Given the description of an element on the screen output the (x, y) to click on. 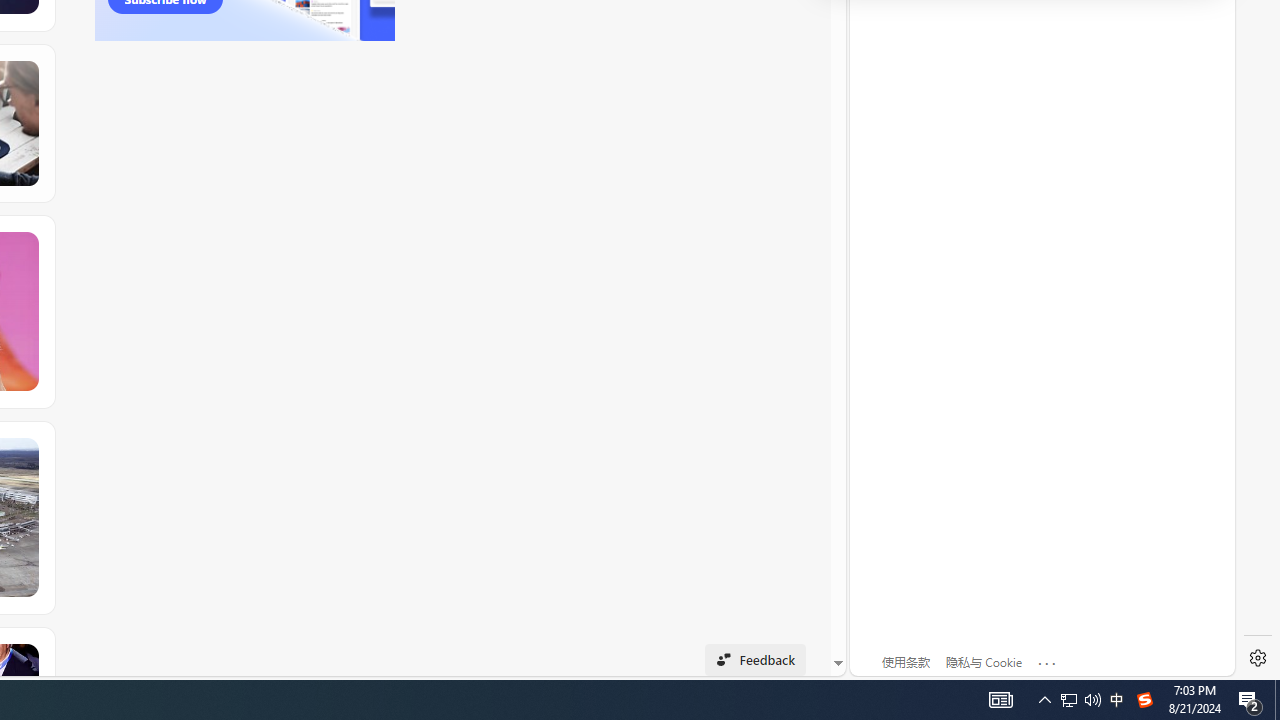
Feedback (755, 659)
